Given the description of an element on the screen output the (x, y) to click on. 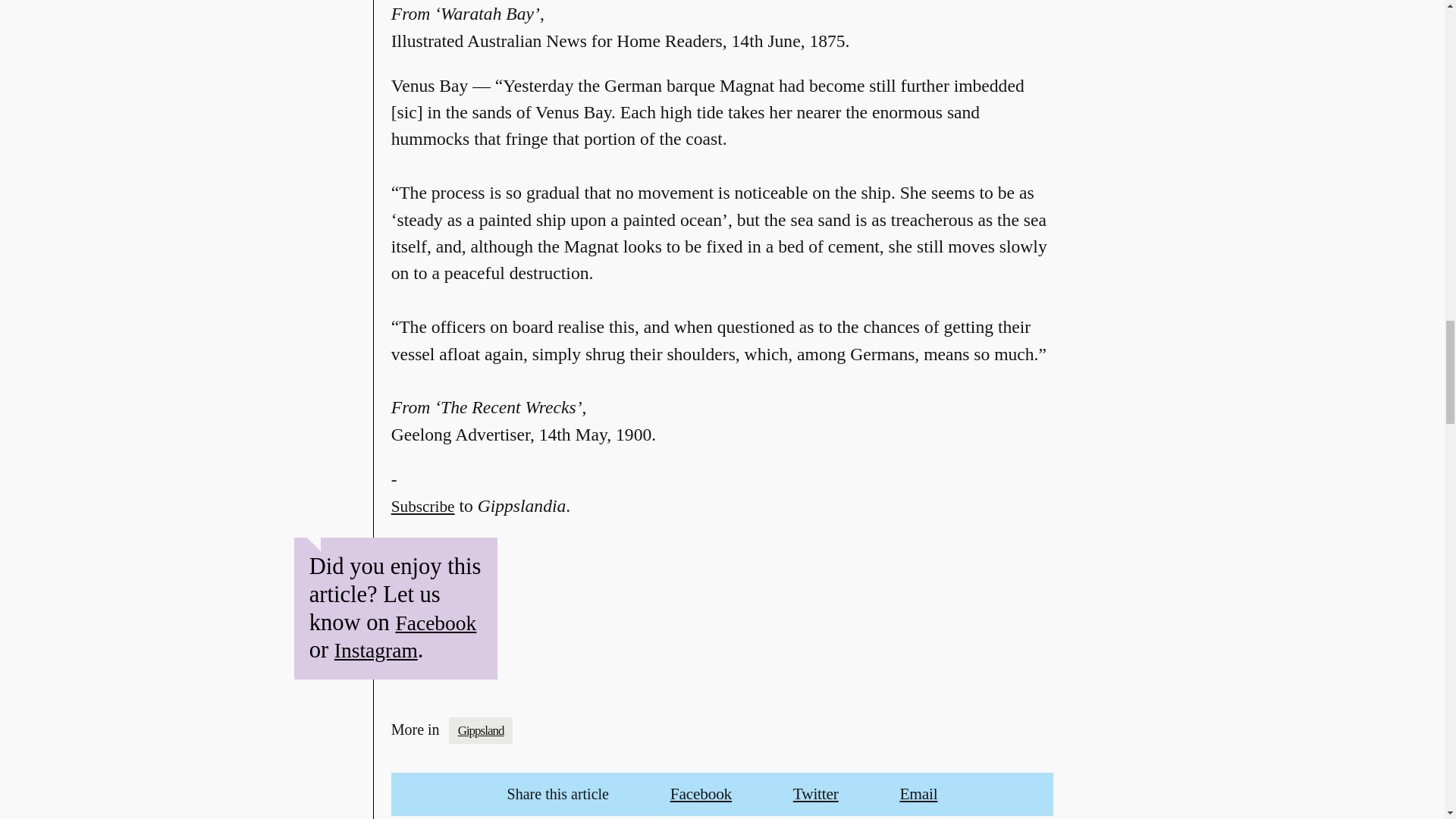
Twitter (815, 793)
Instagram (375, 649)
Facebook (700, 793)
Subscribe (422, 519)
Email (918, 793)
Facebook (435, 622)
Gippsland (480, 730)
